Given the description of an element on the screen output the (x, y) to click on. 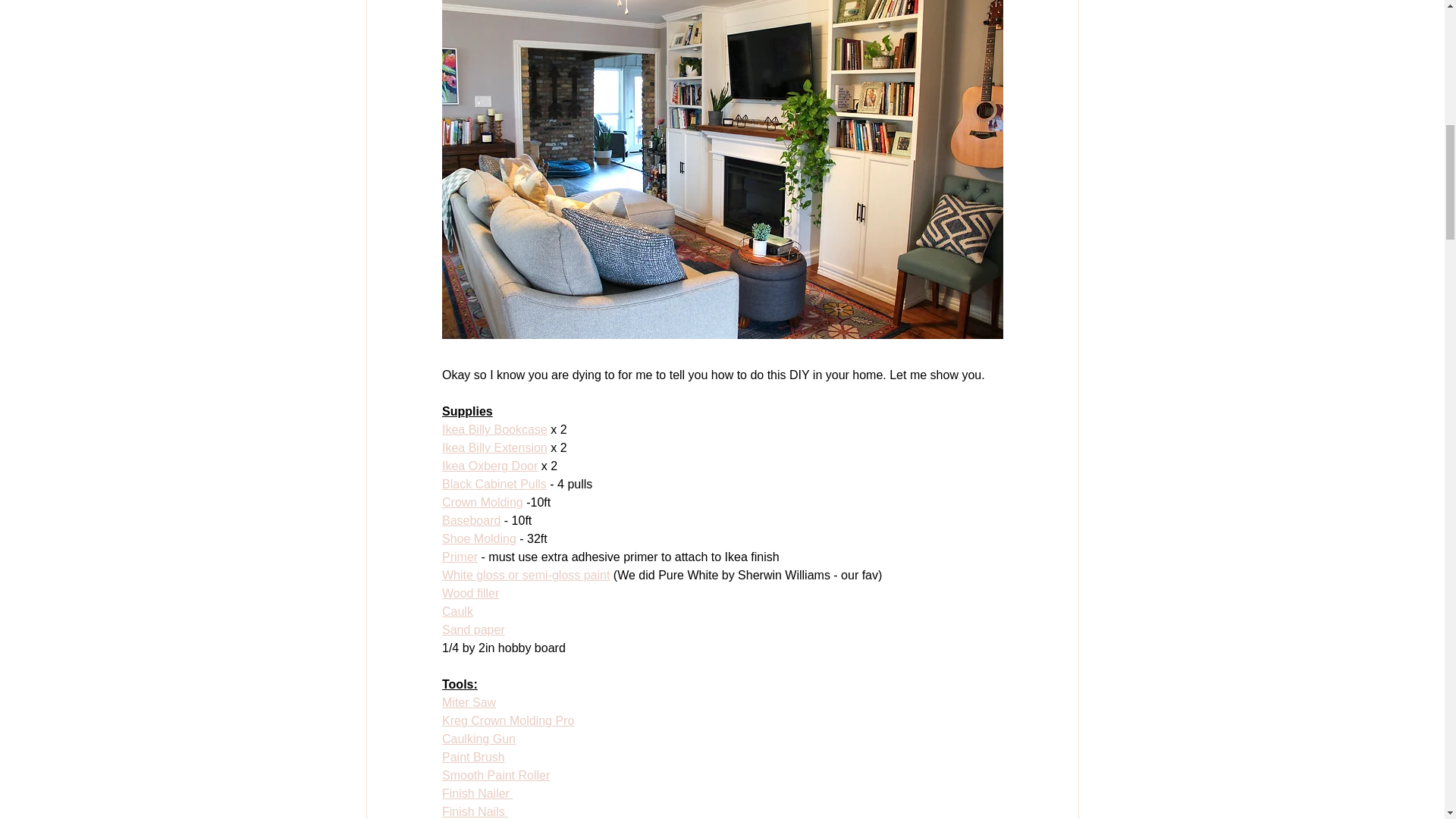
Miter Saw (468, 702)
Shoe Molding (478, 538)
Wood filler (469, 593)
Sand paper (472, 629)
Kreg Crown Molding Pro (507, 720)
Caulking Gun (478, 738)
Crown Molding (481, 502)
Ikea Billy Bookcase (494, 429)
Primer (459, 556)
White gloss or semi-gloss paint (524, 574)
